Given the description of an element on the screen output the (x, y) to click on. 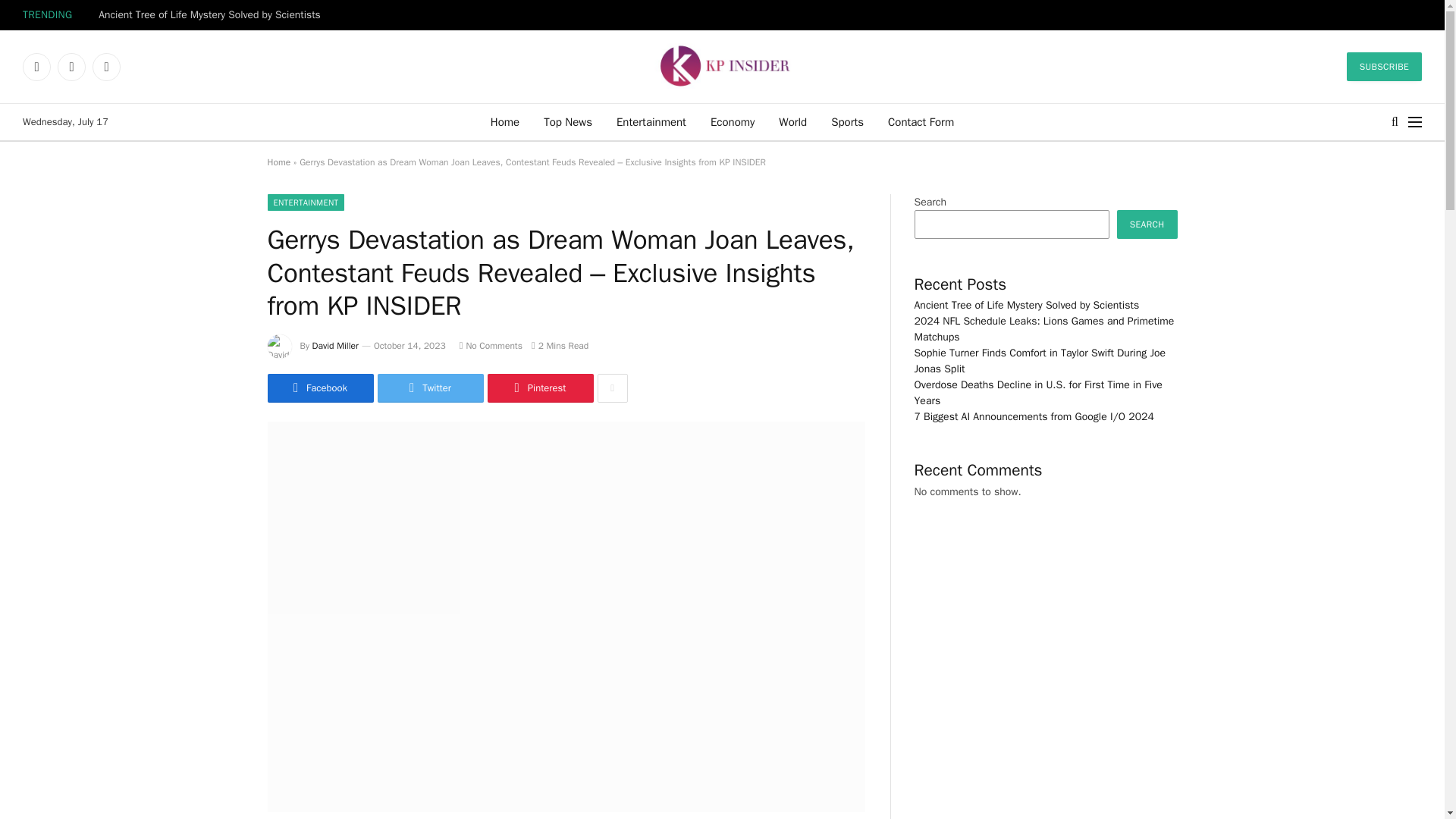
Twitter (71, 67)
KP INSIDER (721, 66)
David Miller (335, 345)
Show More Social Sharing (611, 387)
Home (505, 122)
Economy (732, 122)
Ancient Tree of Life Mystery Solved by Scientists (213, 15)
ENTERTAINMENT (304, 202)
Share on Twitter (430, 387)
World (792, 122)
Home (277, 162)
Share on Pinterest (539, 387)
Sports (847, 122)
Share on Facebook (319, 387)
Posts by David Miller (335, 345)
